Given the description of an element on the screen output the (x, y) to click on. 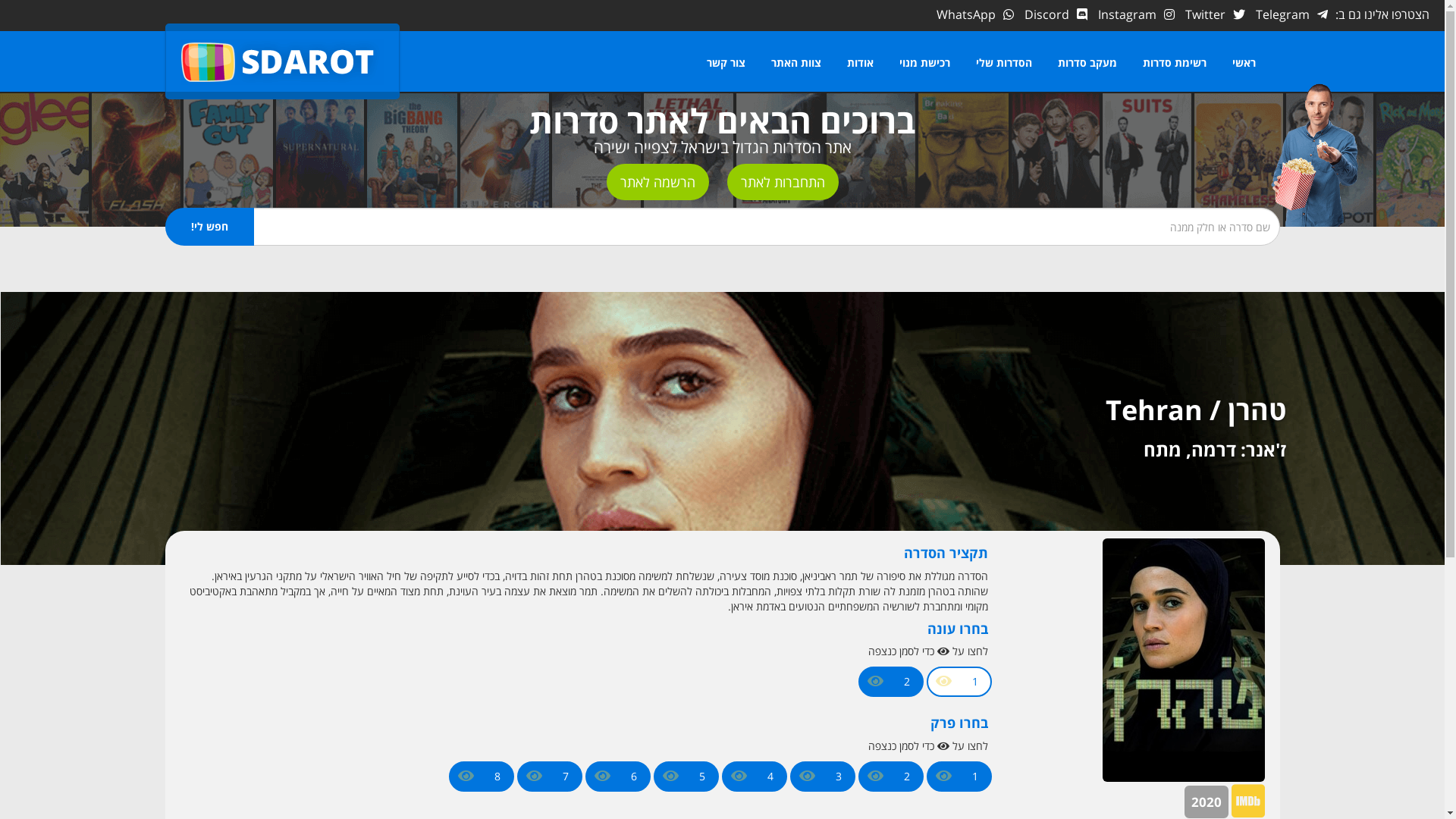
5 Element type: text (702, 776)
2 Element type: text (906, 776)
3 Element type: text (838, 776)
7 Element type: text (565, 776)
Twitter Element type: text (1215, 14)
Instagram Element type: text (1136, 14)
1 Element type: text (975, 681)
6 Element type: text (633, 776)
Discord Element type: text (1055, 14)
2 Element type: text (906, 681)
4 Element type: text (770, 776)
WhatsApp Element type: text (974, 14)
1 Element type: text (975, 776)
8 Element type: text (497, 776)
Telegram Element type: text (1291, 14)
